Given the description of an element on the screen output the (x, y) to click on. 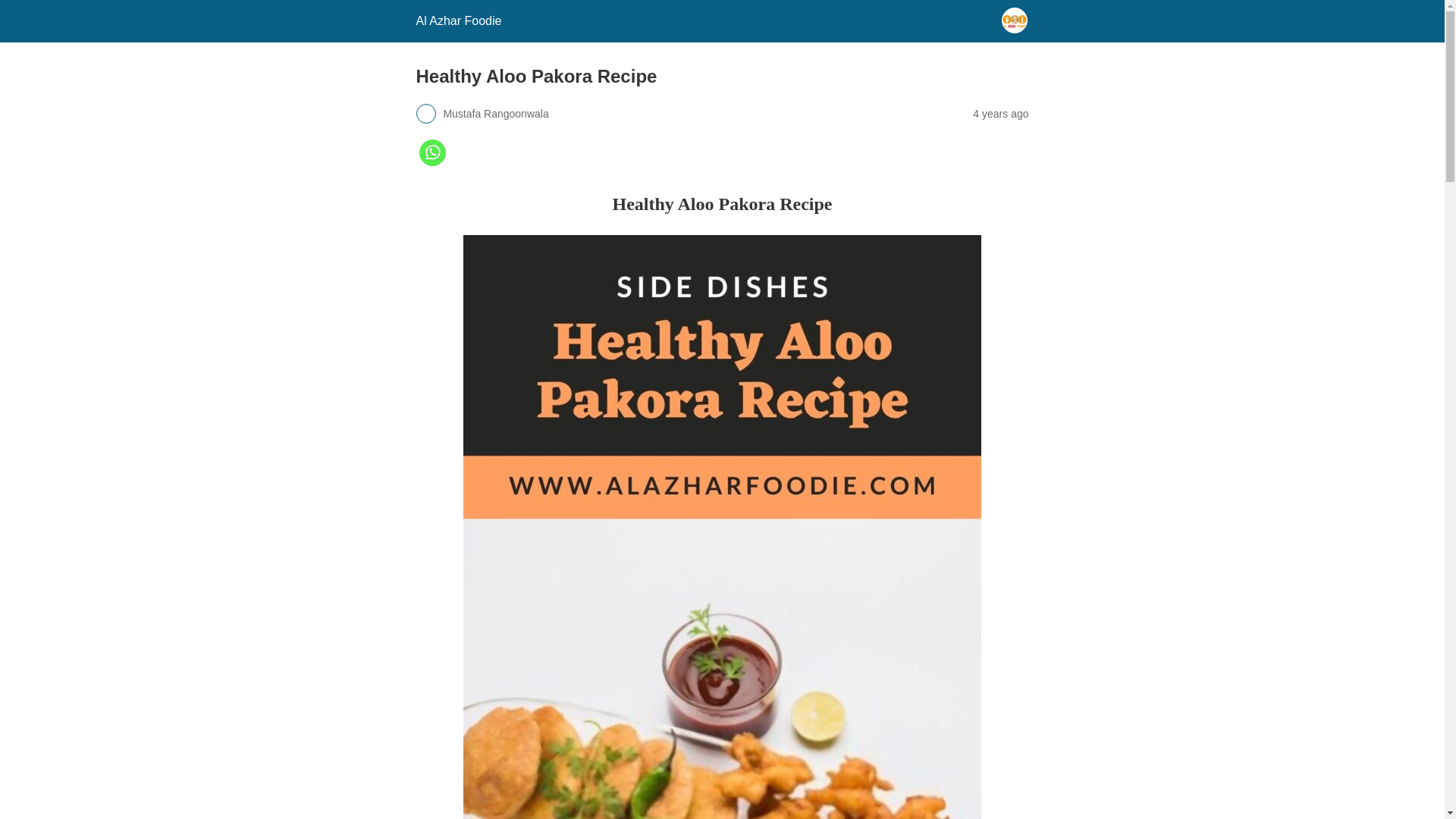
Al Azhar Foodie (457, 20)
Whatsapp (431, 161)
